Given the description of an element on the screen output the (x, y) to click on. 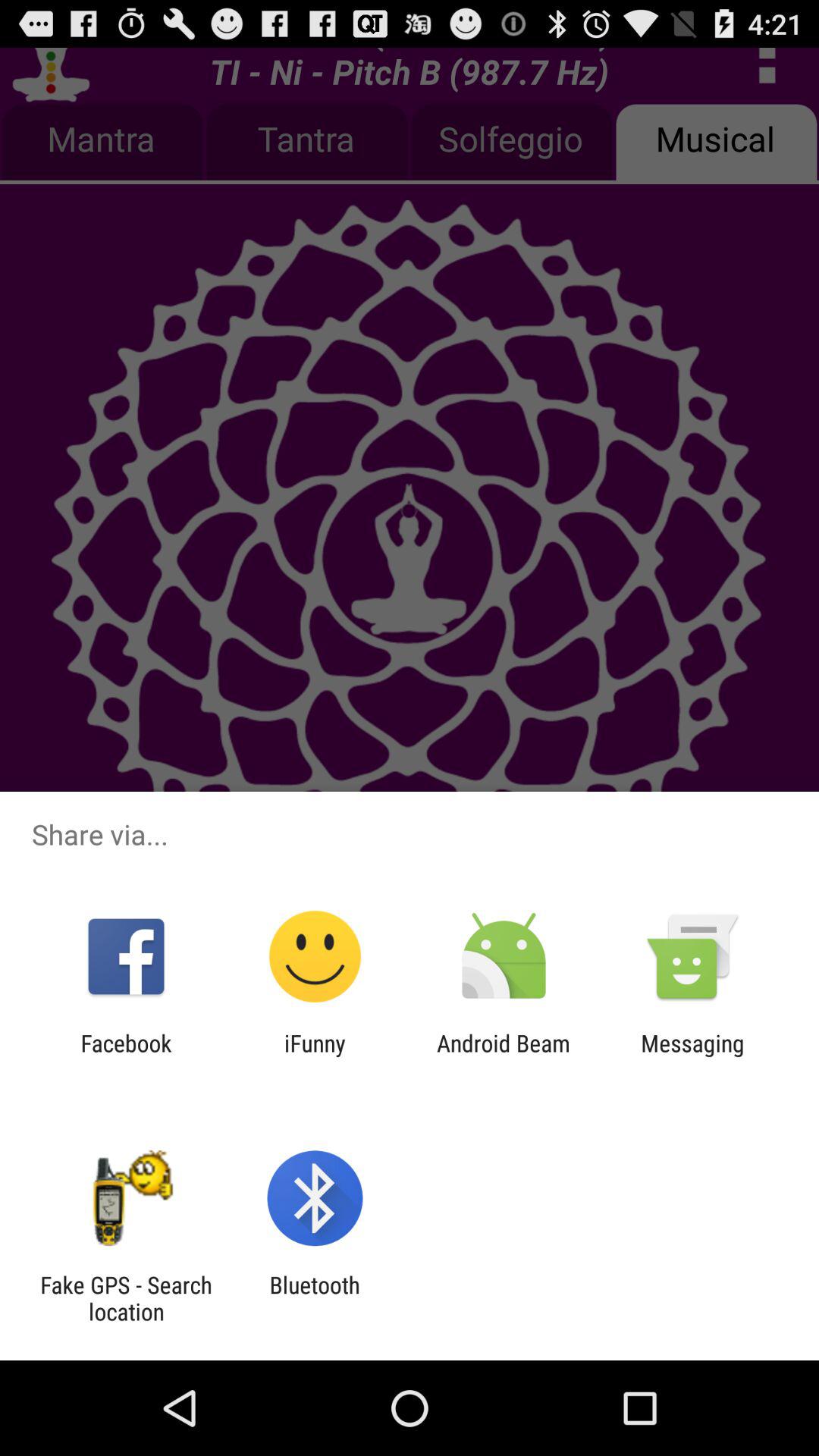
click app next to android beam app (314, 1056)
